Given the description of an element on the screen output the (x, y) to click on. 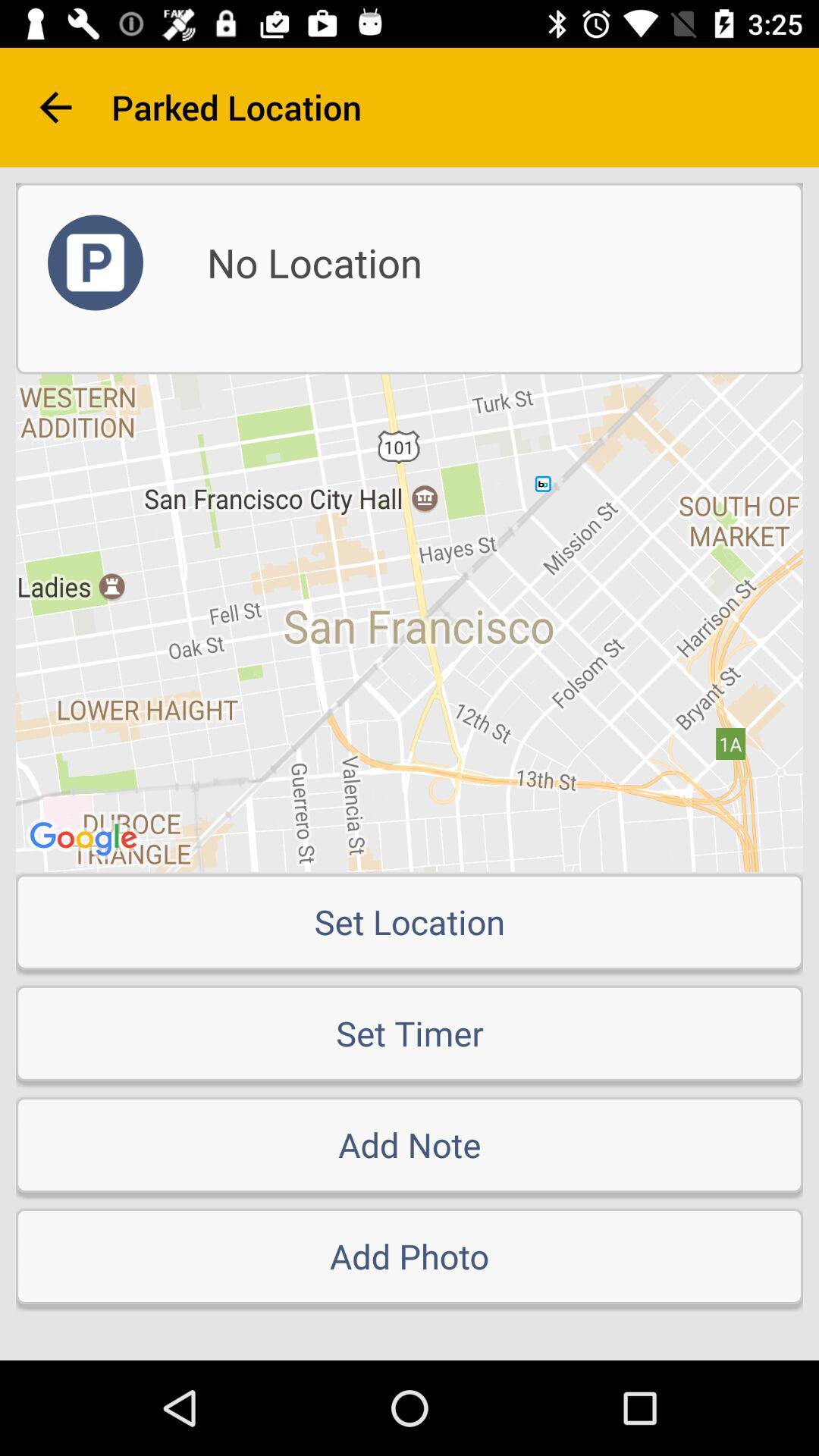
swipe to set timer (409, 1033)
